Given the description of an element on the screen output the (x, y) to click on. 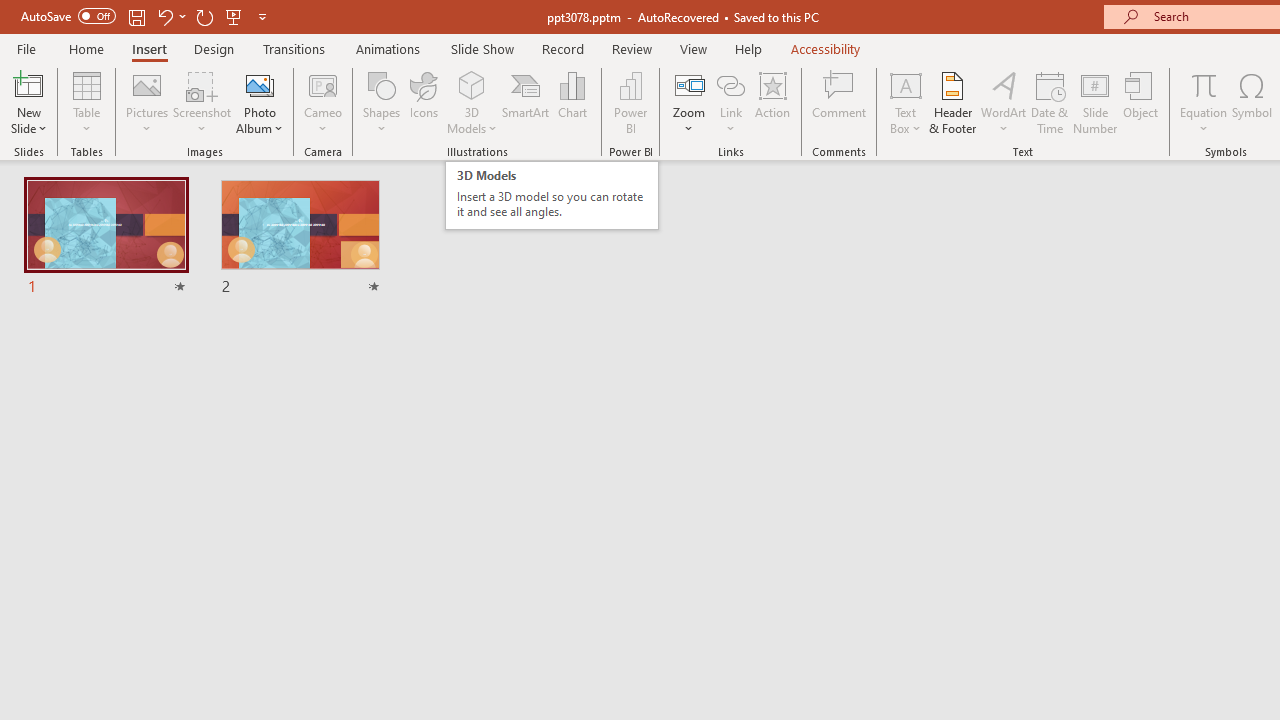
Comment (839, 102)
Equation (1203, 84)
WordArt (1004, 102)
Slide Number (1095, 102)
